Given the description of an element on the screen output the (x, y) to click on. 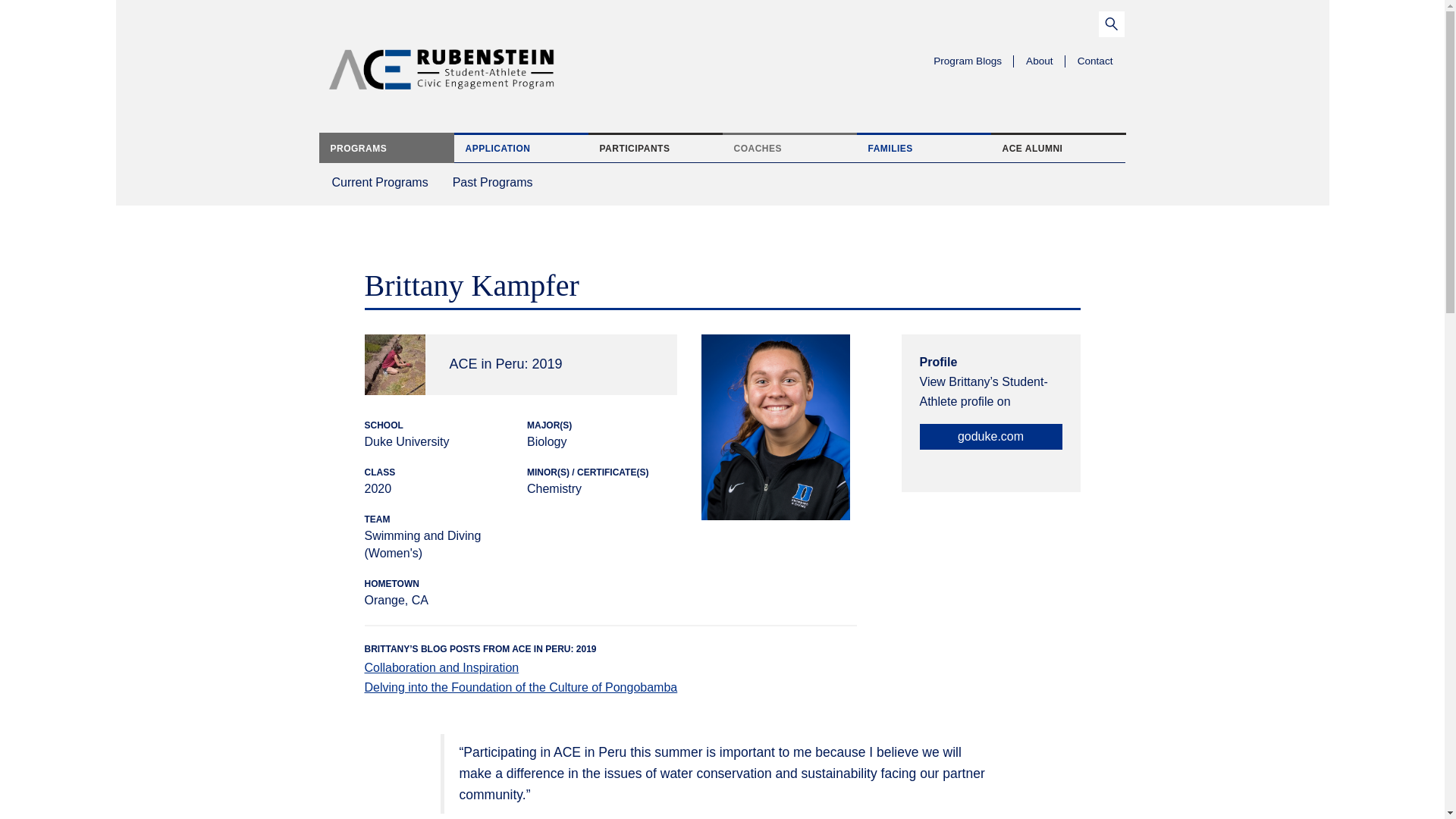
Skip to main content (139, 23)
PARTICIPANTS (655, 147)
APPLICATION (520, 147)
COACHES (380, 180)
ACE ALUMNI (789, 147)
FAMILIES (1057, 147)
PROGRAMS (492, 180)
